Given the description of an element on the screen output the (x, y) to click on. 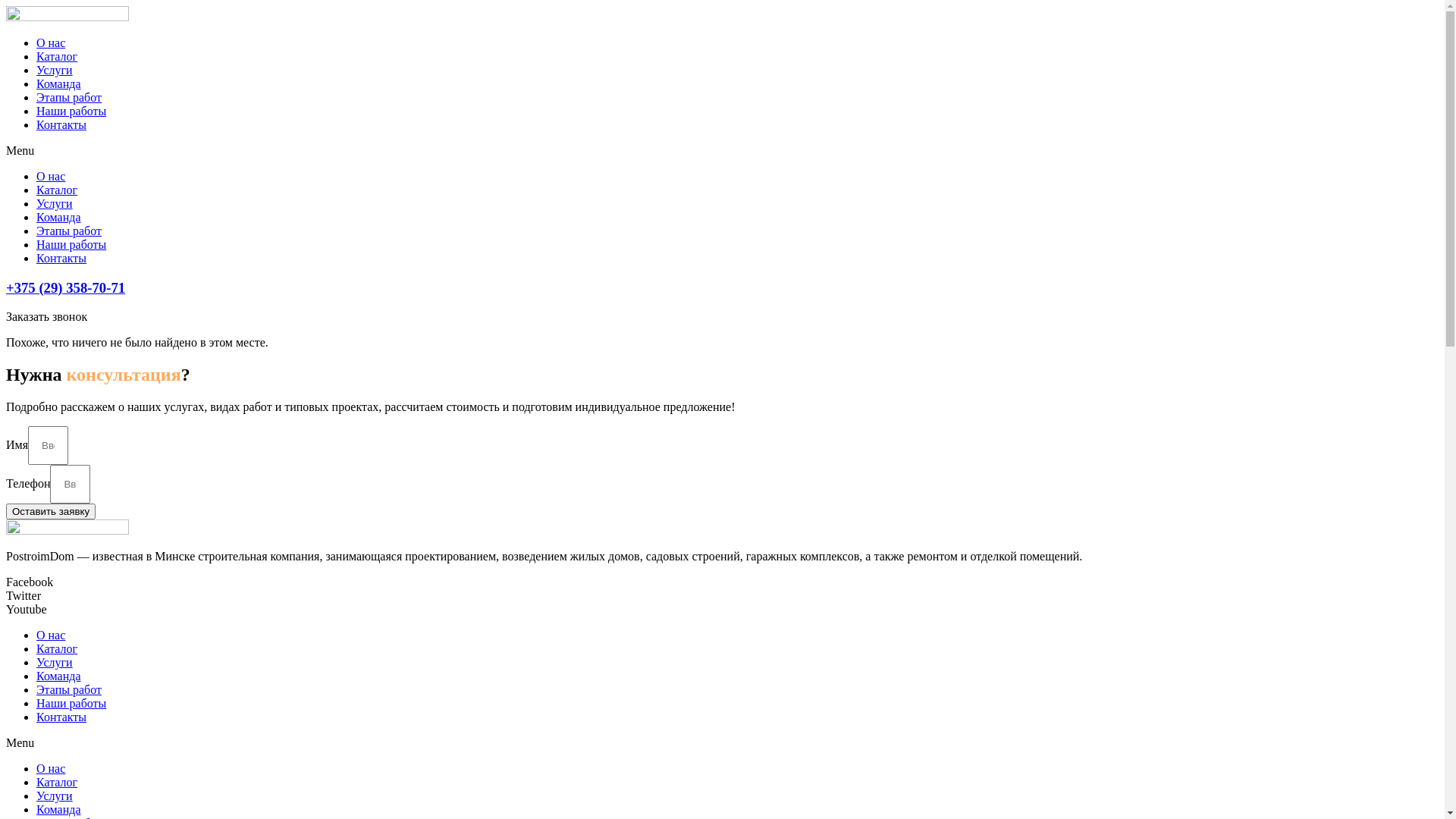
Youtube Element type: text (26, 608)
+375 (29) 358-70-71 Element type: text (65, 287)
Twitter Element type: text (23, 595)
Facebook Element type: text (29, 581)
